Given the description of an element on the screen output the (x, y) to click on. 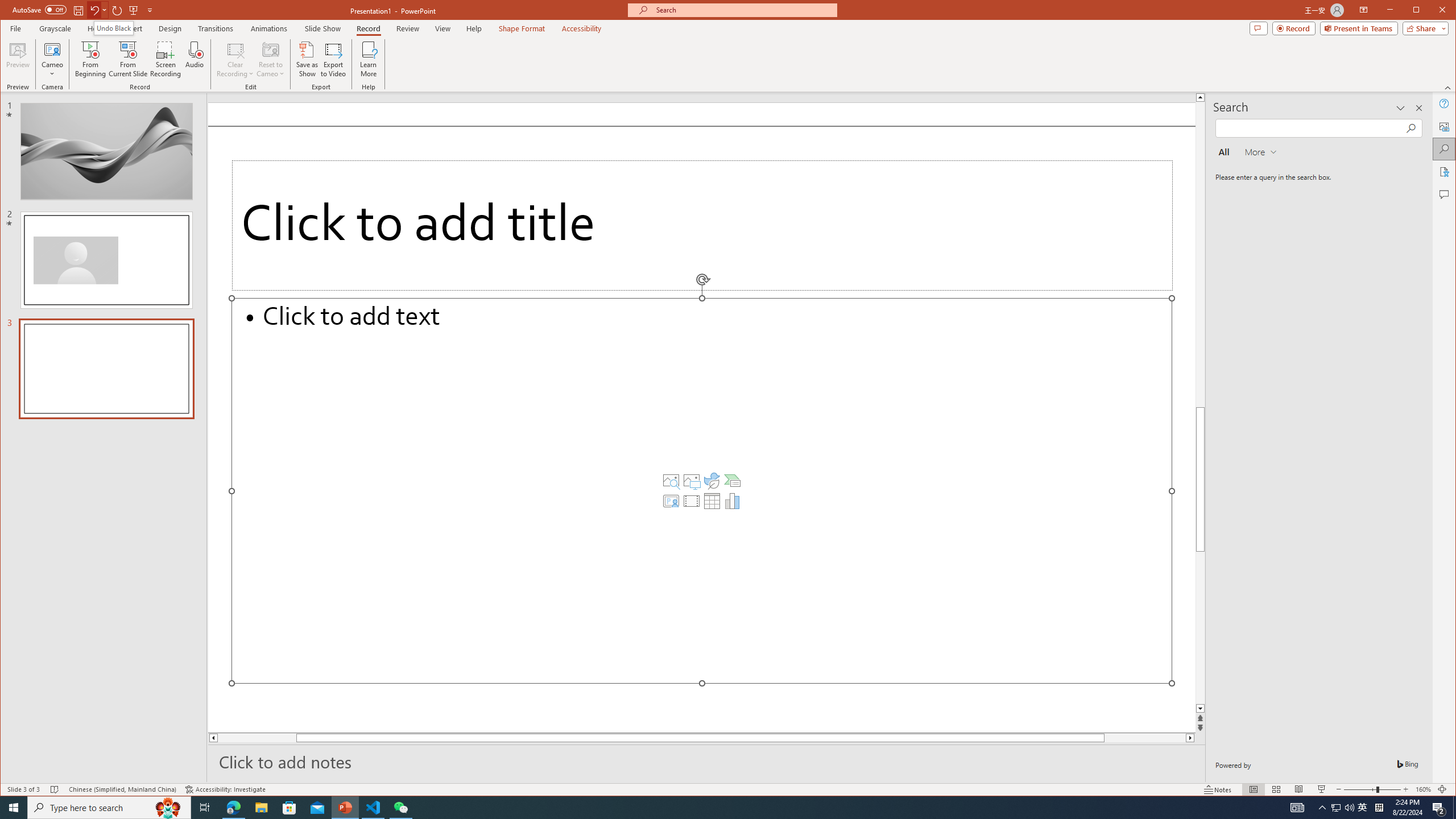
Line up (1200, 96)
WeChat - 1 running window (400, 807)
Insert Table (711, 501)
Search (1444, 148)
Microsoft search (742, 10)
Tray Input Indicator - Chinese (Simplified, China) (1378, 807)
Page up (1200, 302)
File Explorer (261, 807)
